Given the description of an element on the screen output the (x, y) to click on. 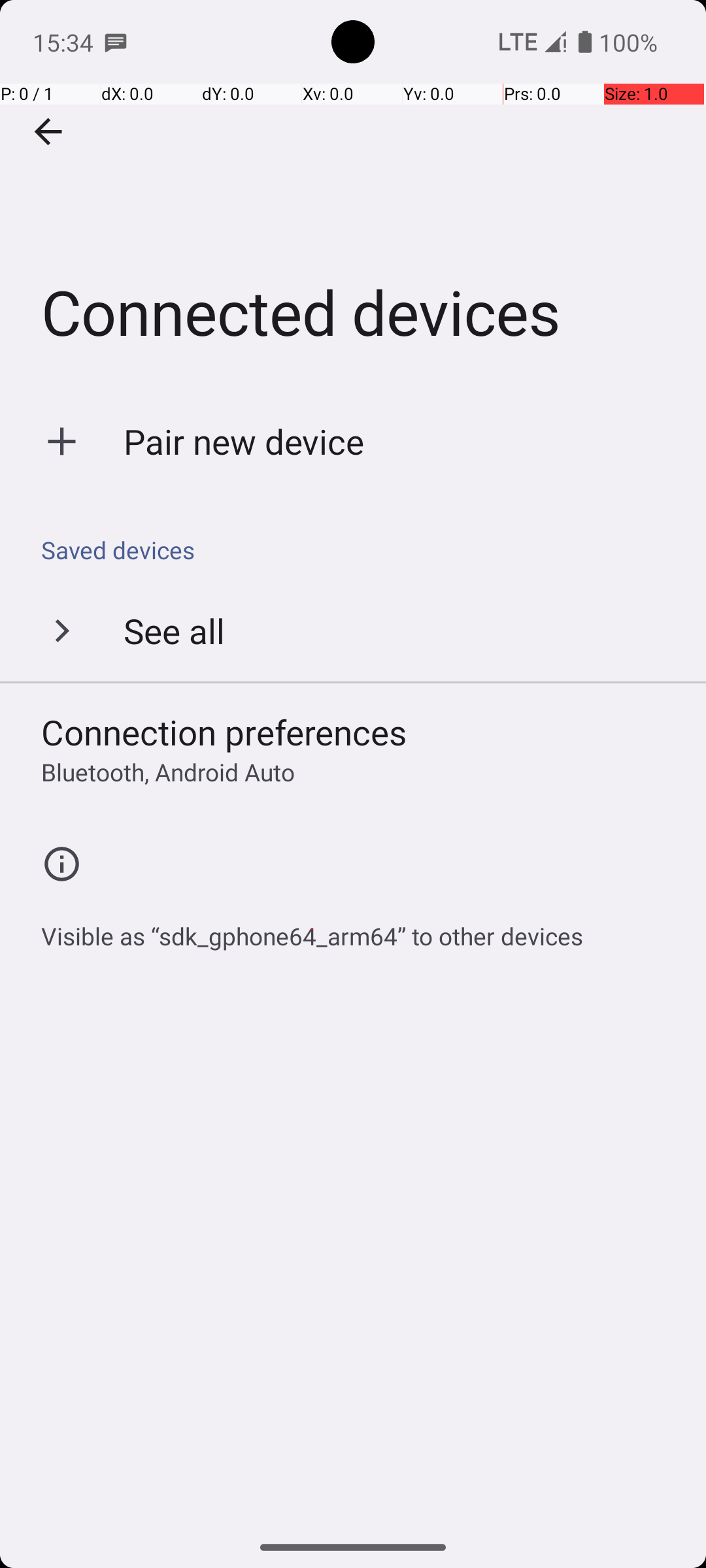
Pair new device Element type: android.widget.TextView (243, 441)
Saved devices Element type: android.widget.TextView (359, 549)
See all Element type: android.widget.TextView (173, 630)
Connection preferences Element type: android.widget.TextView (224, 731)
Bluetooth, Android Auto Element type: android.widget.TextView (167, 771)
Visible as “sdk_gphone64_arm64” to other devices Element type: android.widget.TextView (312, 928)
